Given the description of an element on the screen output the (x, y) to click on. 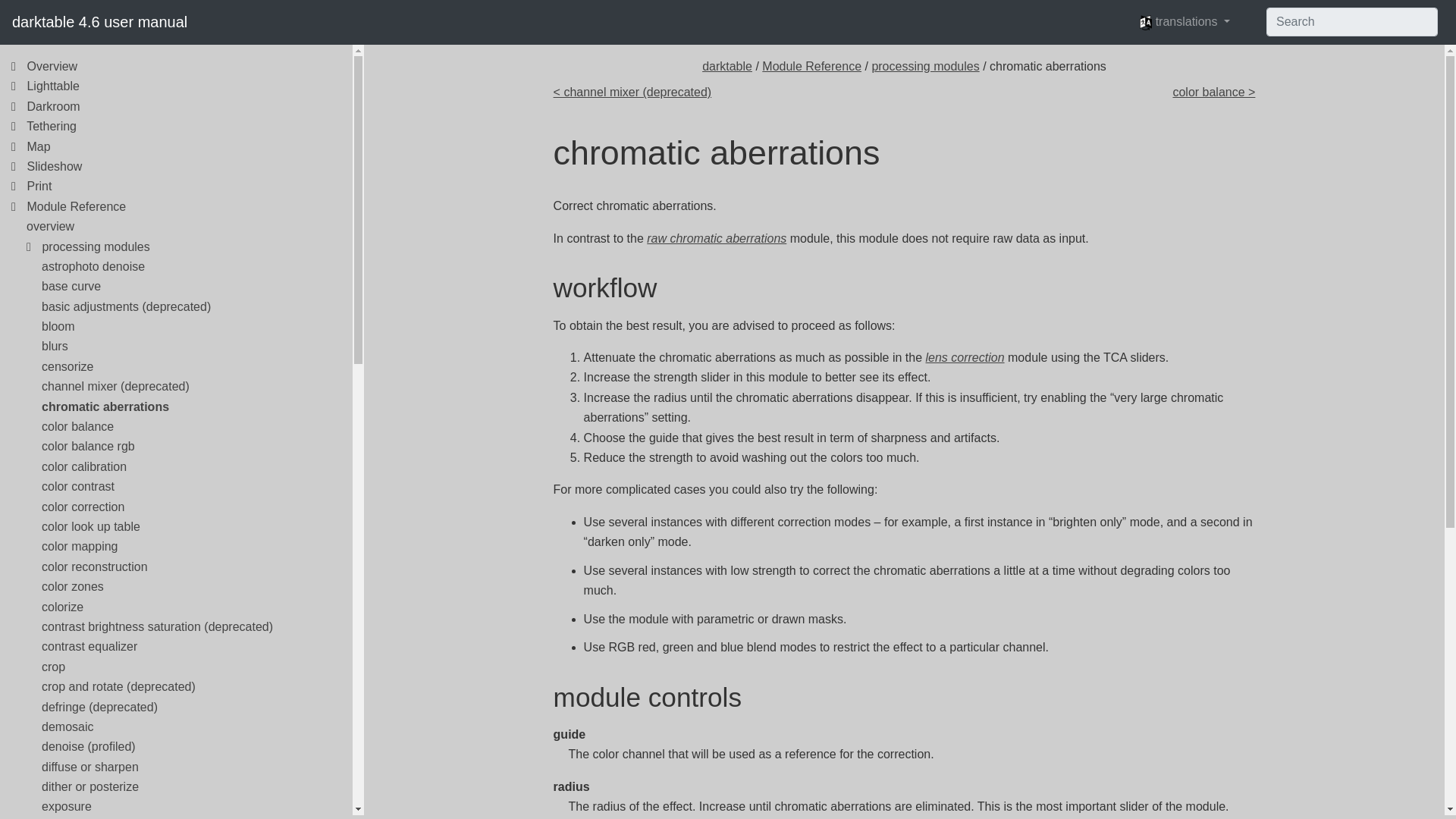
Module Reference (811, 65)
darktable 4.6 user manual (99, 21)
translations (1185, 21)
raw chromatic aberrations (716, 237)
darktable (726, 65)
darktable 4.6 user manual (99, 21)
lens correction (965, 357)
processing modules (924, 65)
Overview (51, 65)
